Given the description of an element on the screen output the (x, y) to click on. 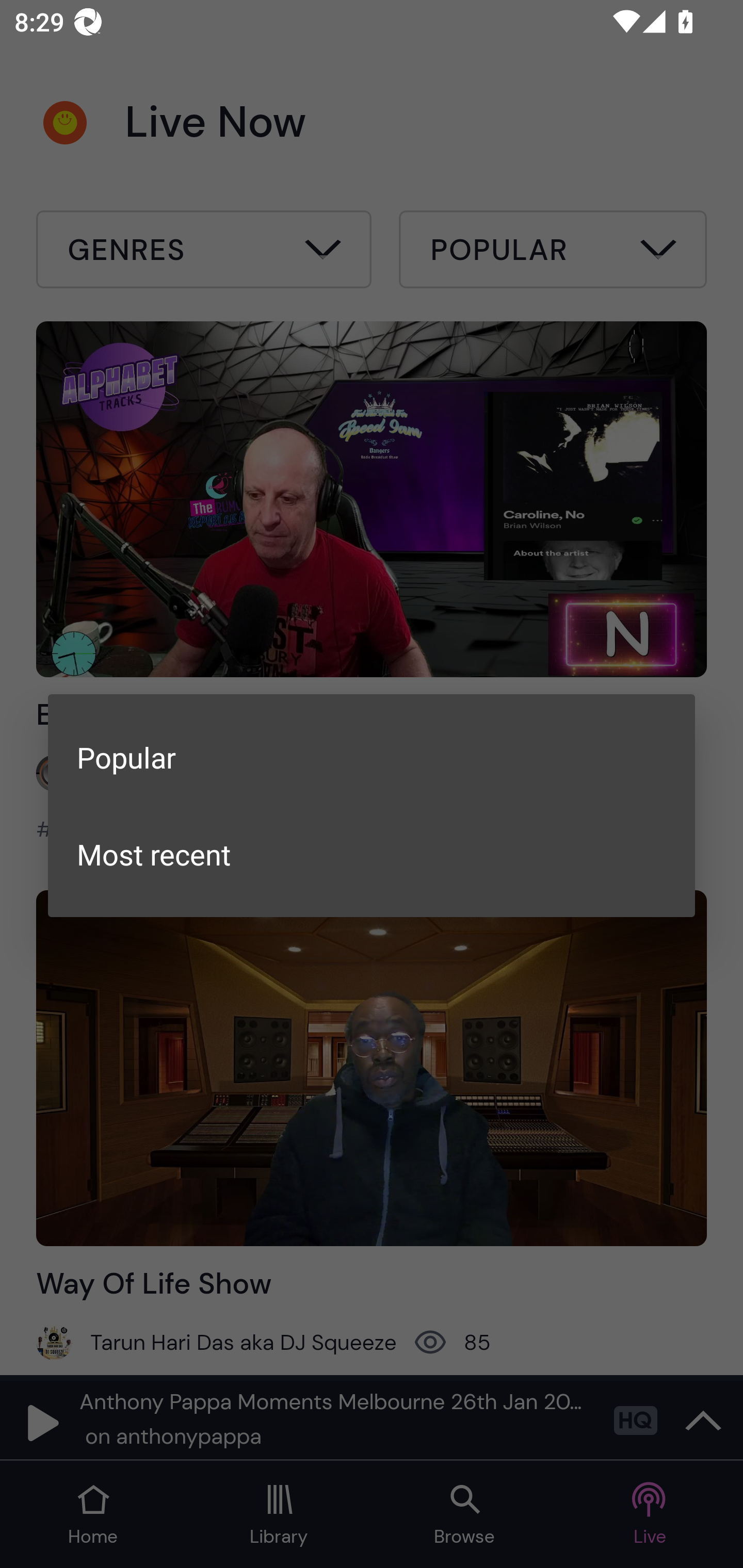
Popular (371, 756)
Most recent (371, 854)
